Given the description of an element on the screen output the (x, y) to click on. 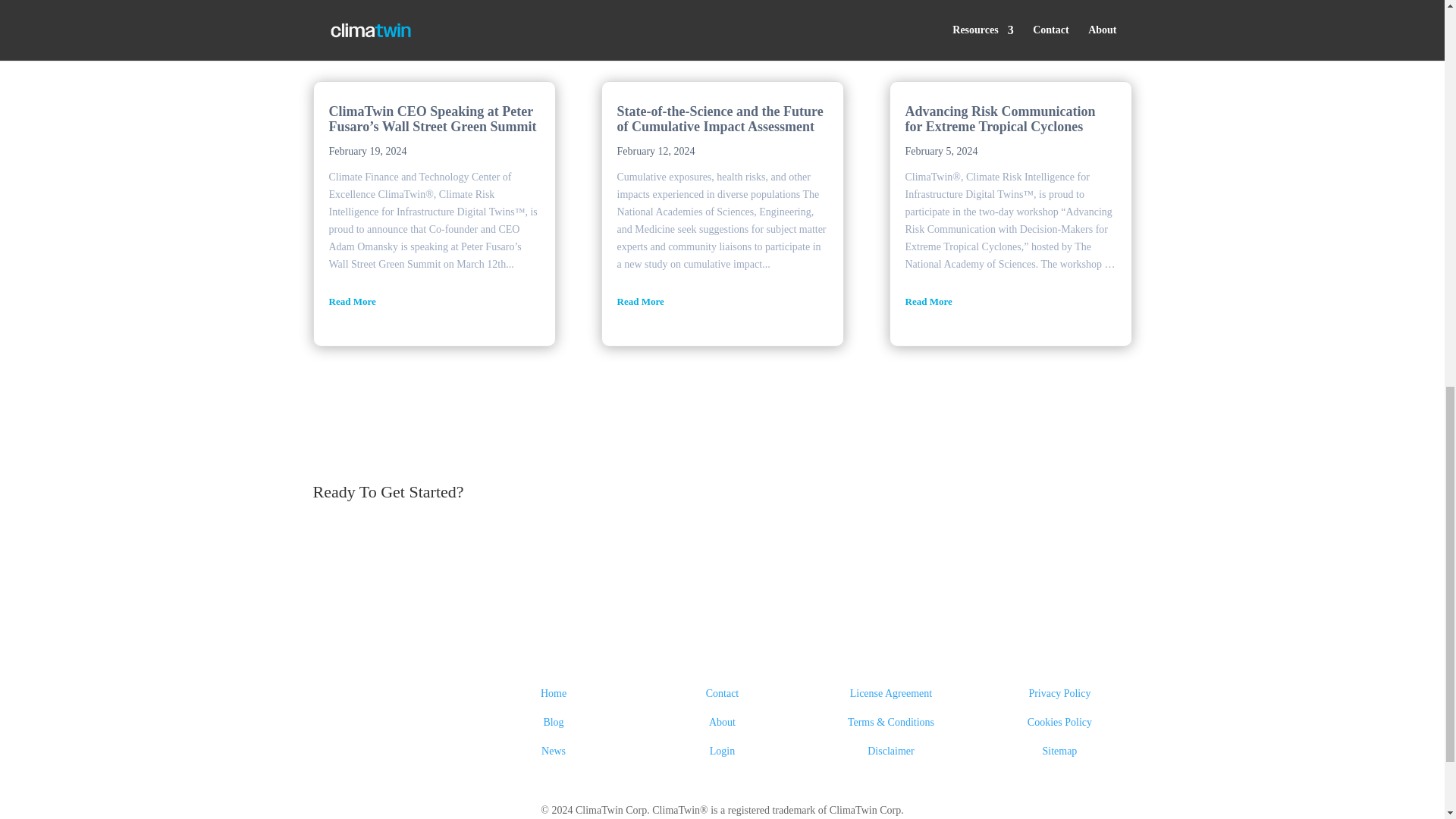
Home (553, 693)
Blog (553, 722)
Read More (722, 301)
Privacy Policy (1058, 693)
Advancing Risk Communication for Extreme Tropical Cyclones (1000, 119)
License Agreement (890, 693)
News (553, 750)
Login (722, 750)
